Given the description of an element on the screen output the (x, y) to click on. 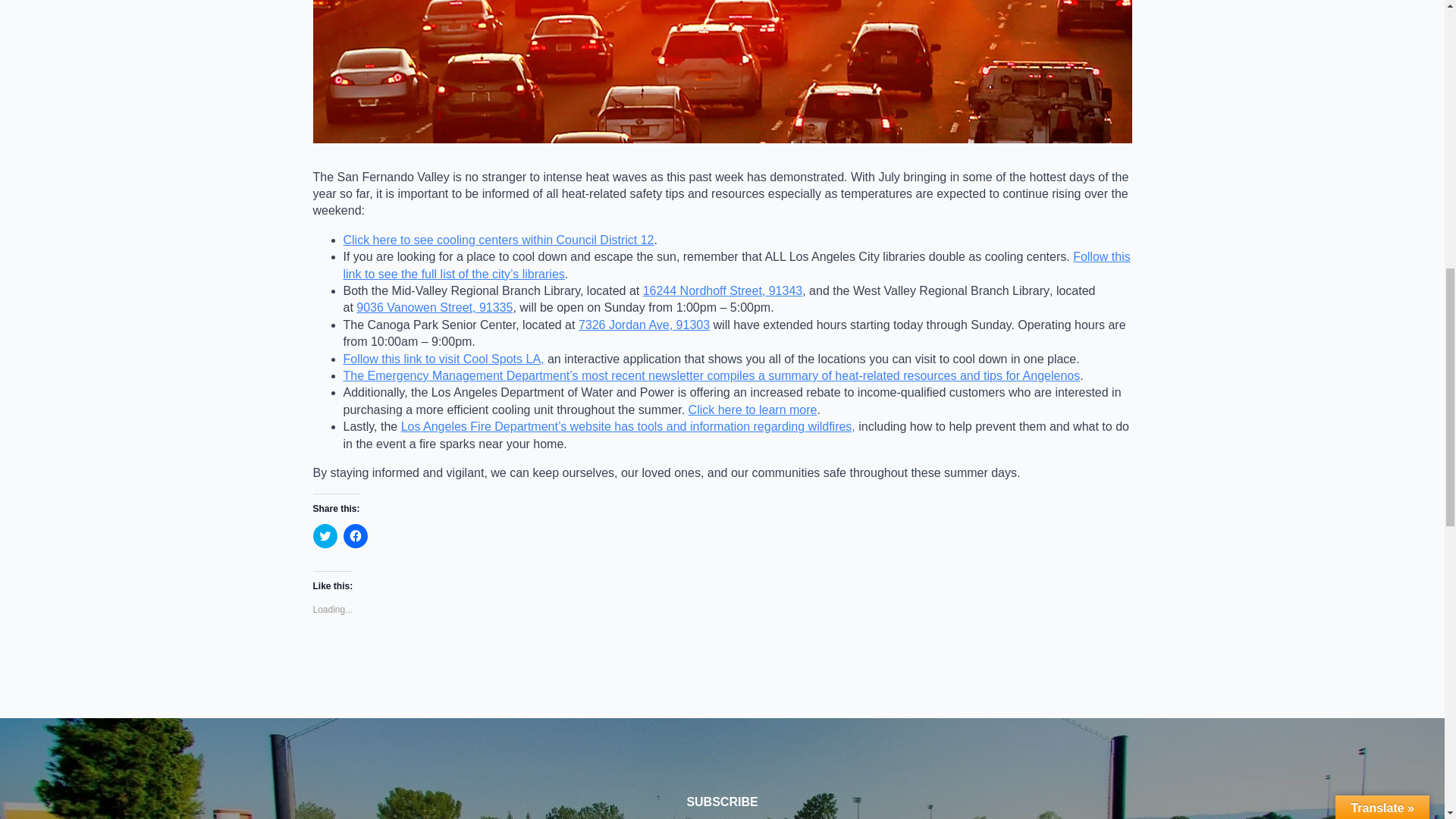
Click to share on Twitter (324, 535)
Click to share on Facebook (354, 535)
